Given the description of an element on the screen output the (x, y) to click on. 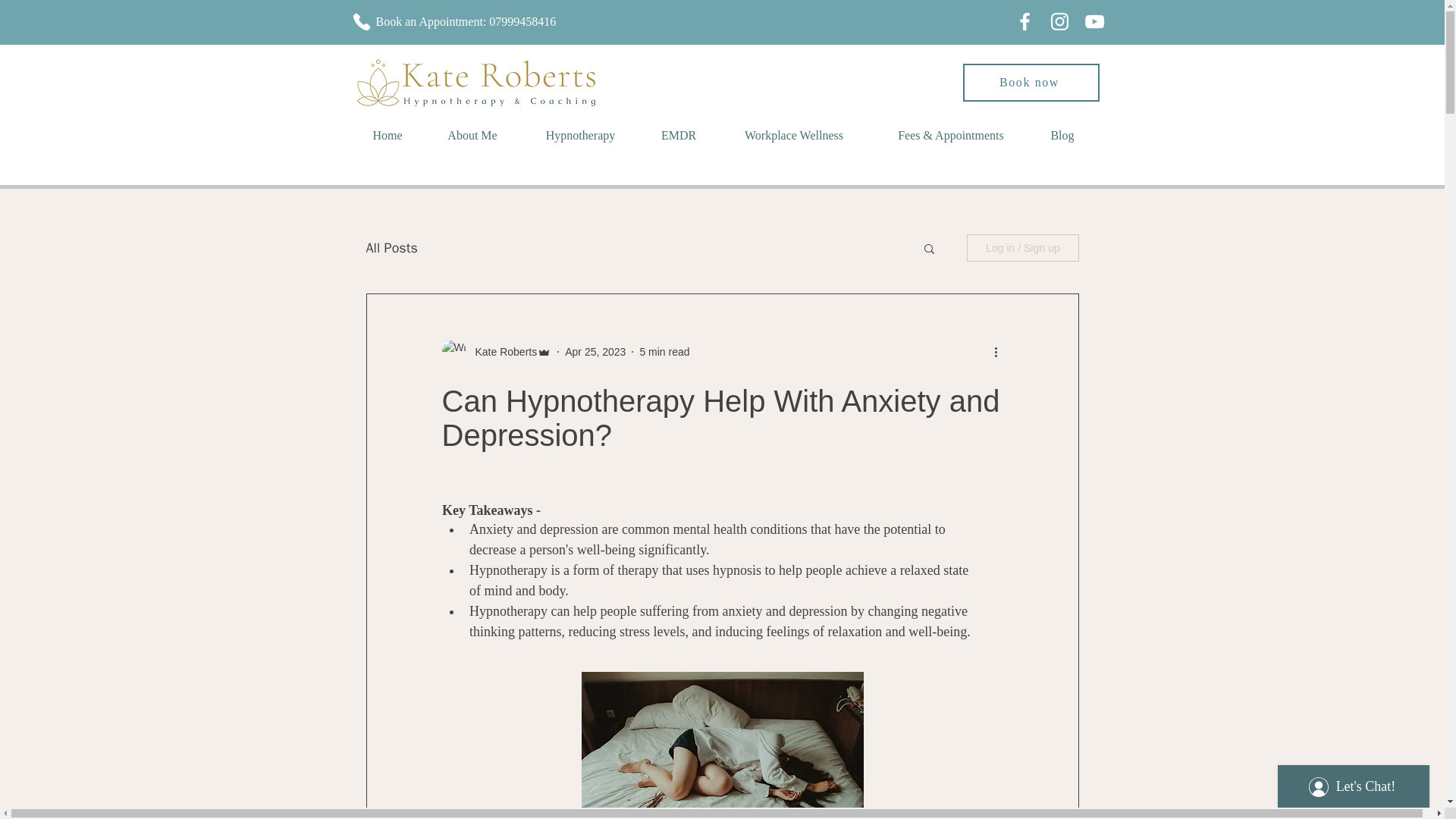
About Me (472, 135)
All Posts (390, 248)
Blog (1061, 135)
Wix Chat (1356, 782)
Home (386, 135)
Apr 25, 2023 (595, 351)
Book an Appointment: 07999458416 (482, 21)
EMDR (678, 135)
Kate Roberts (501, 351)
Workplace Wellness (793, 135)
5 min read (663, 351)
Book now (1030, 82)
Hypnotherapy (579, 135)
